Given the description of an element on the screen output the (x, y) to click on. 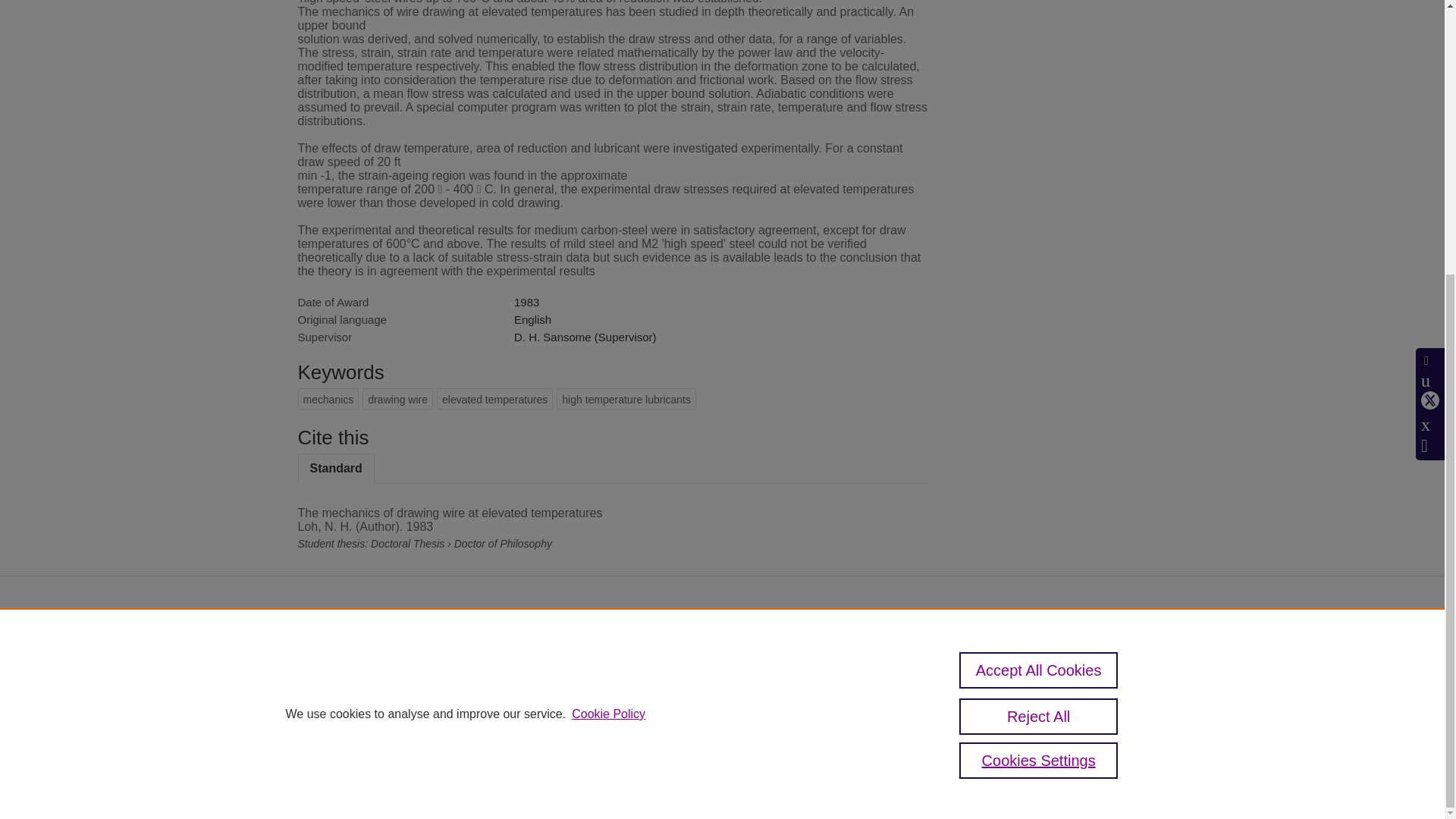
Cookies Settings (575, 747)
Reject All (1038, 311)
Contact us (1125, 657)
About web accessibility (1002, 700)
Scopus (636, 651)
Cookie Policy (608, 308)
Aston Research Explorer data protection policy (1012, 663)
Pure (604, 651)
Accept All Cookies (1038, 265)
Report vulnerability (1018, 726)
